Given the description of an element on the screen output the (x, y) to click on. 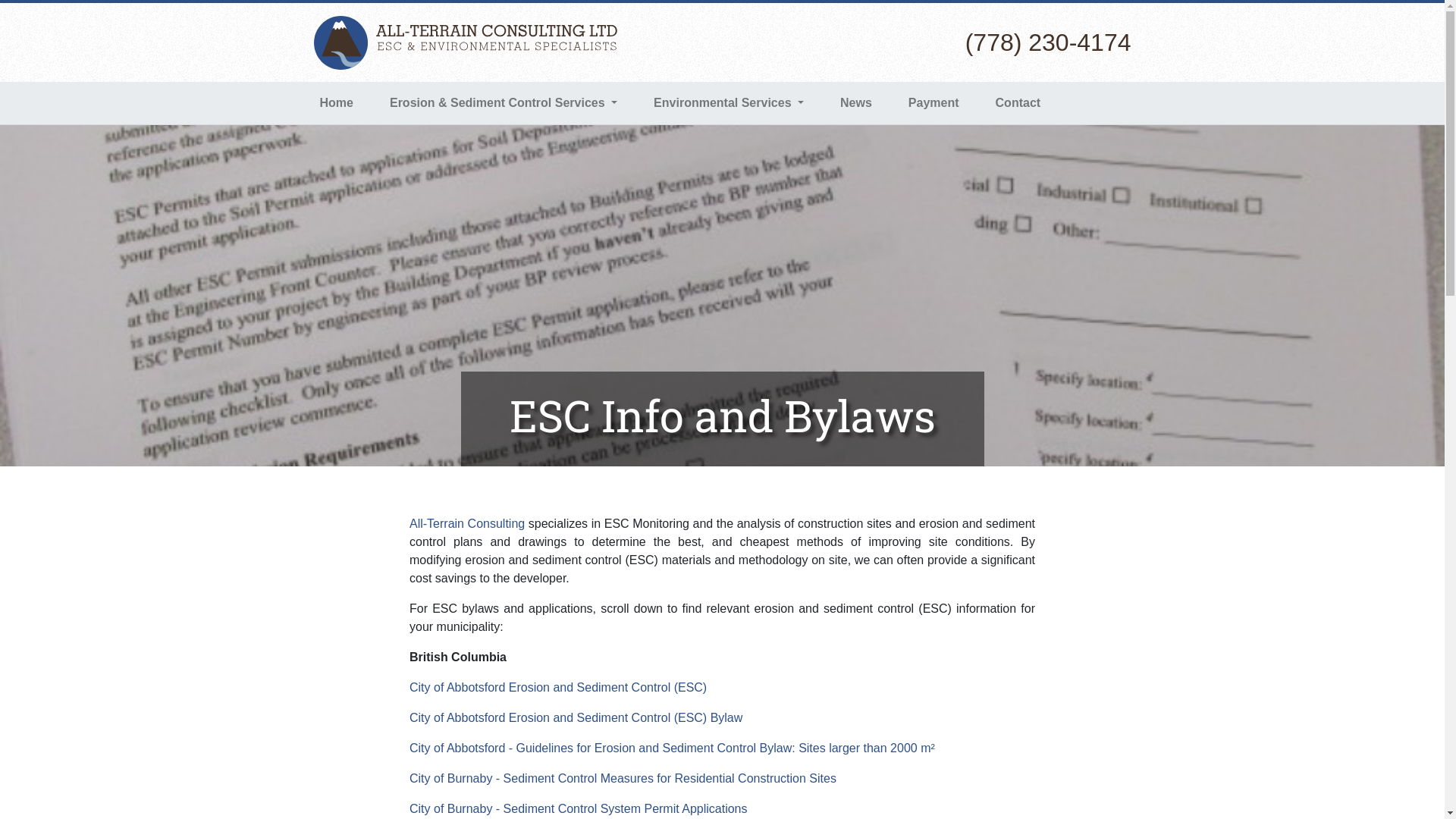
Erosion & Sediment Control Services Element type: text (503, 102)
Payment Element type: text (933, 102)
City of Abbotsford Erosion and Sediment Control (ESC) Element type: text (557, 686)
(778) 230-4174 Element type: text (1048, 42)
Environmental Services Element type: text (728, 102)
Contact Element type: text (1018, 102)
City of Abbotsford Erosion and Sediment Control (ESC) Bylaw Element type: text (575, 717)
News Element type: text (856, 102)
All-Terrain Consulting Element type: text (466, 523)
Home Element type: text (336, 102)
